Given the description of an element on the screen output the (x, y) to click on. 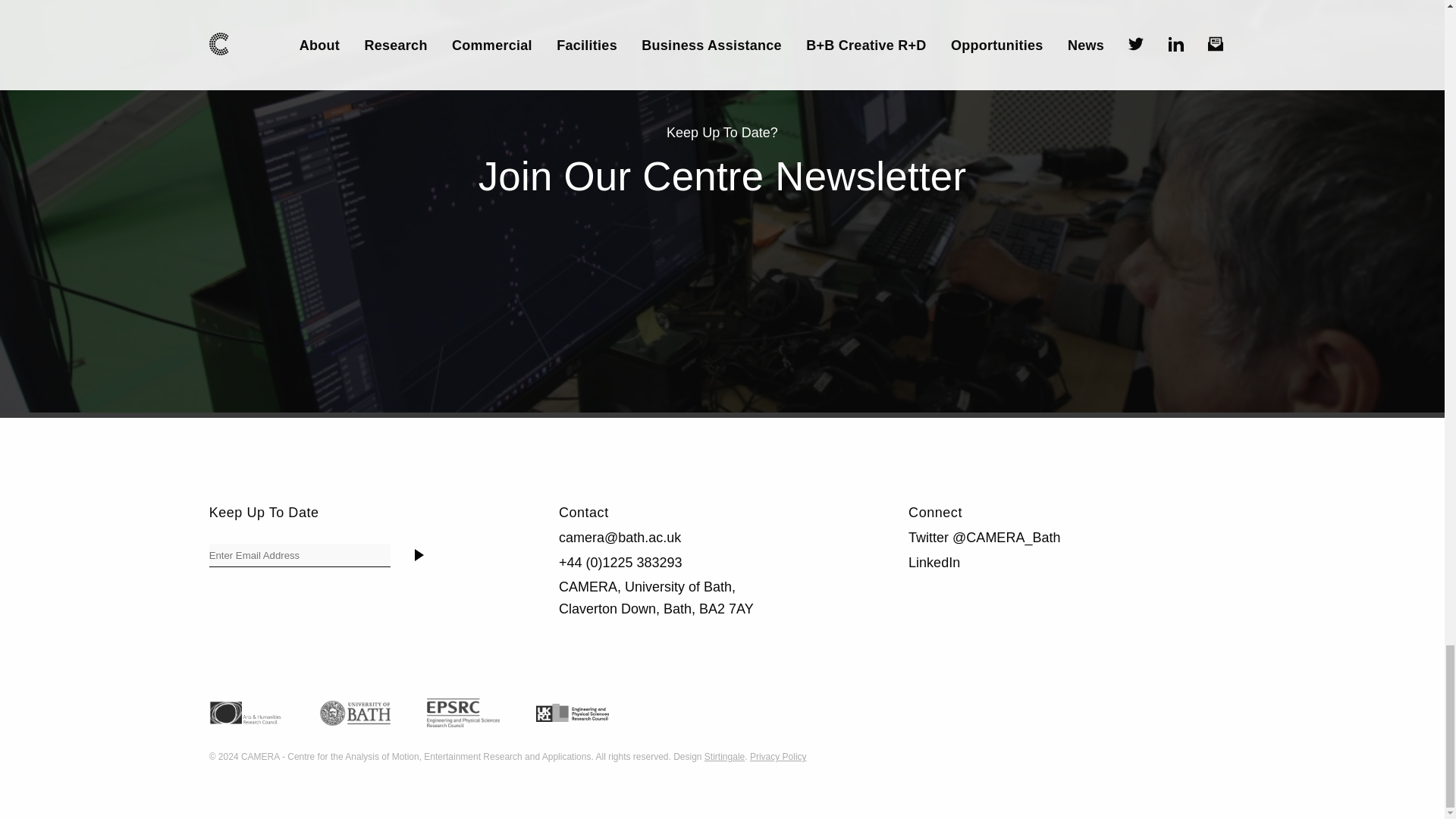
creatice web design (724, 756)
